Given the description of an element on the screen output the (x, y) to click on. 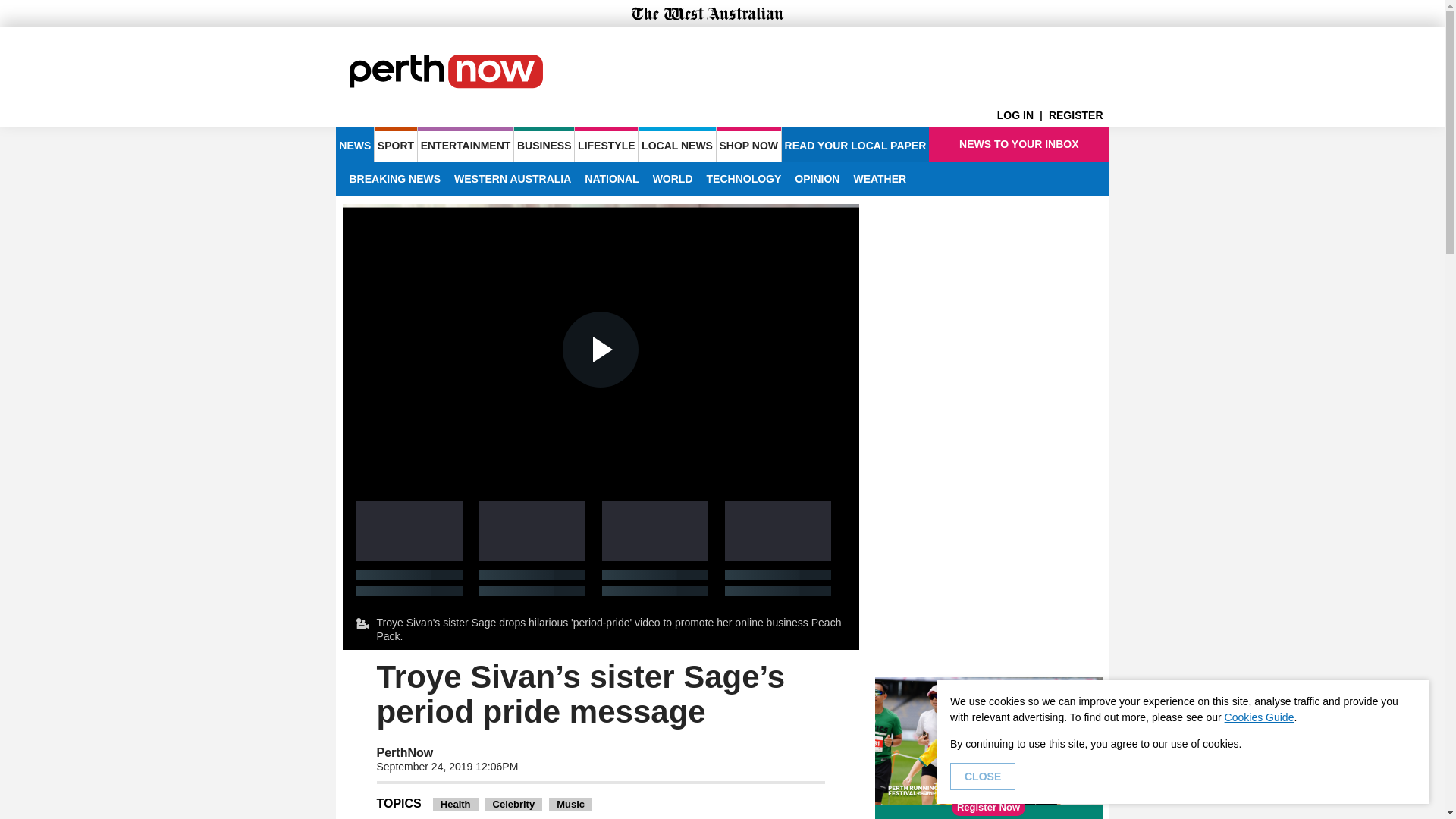
NEWS (354, 144)
REGISTER (1078, 115)
ENTERTAINMENT (465, 144)
SPORT (395, 144)
Play Video (600, 349)
LOG IN (1022, 115)
